Given the description of an element on the screen output the (x, y) to click on. 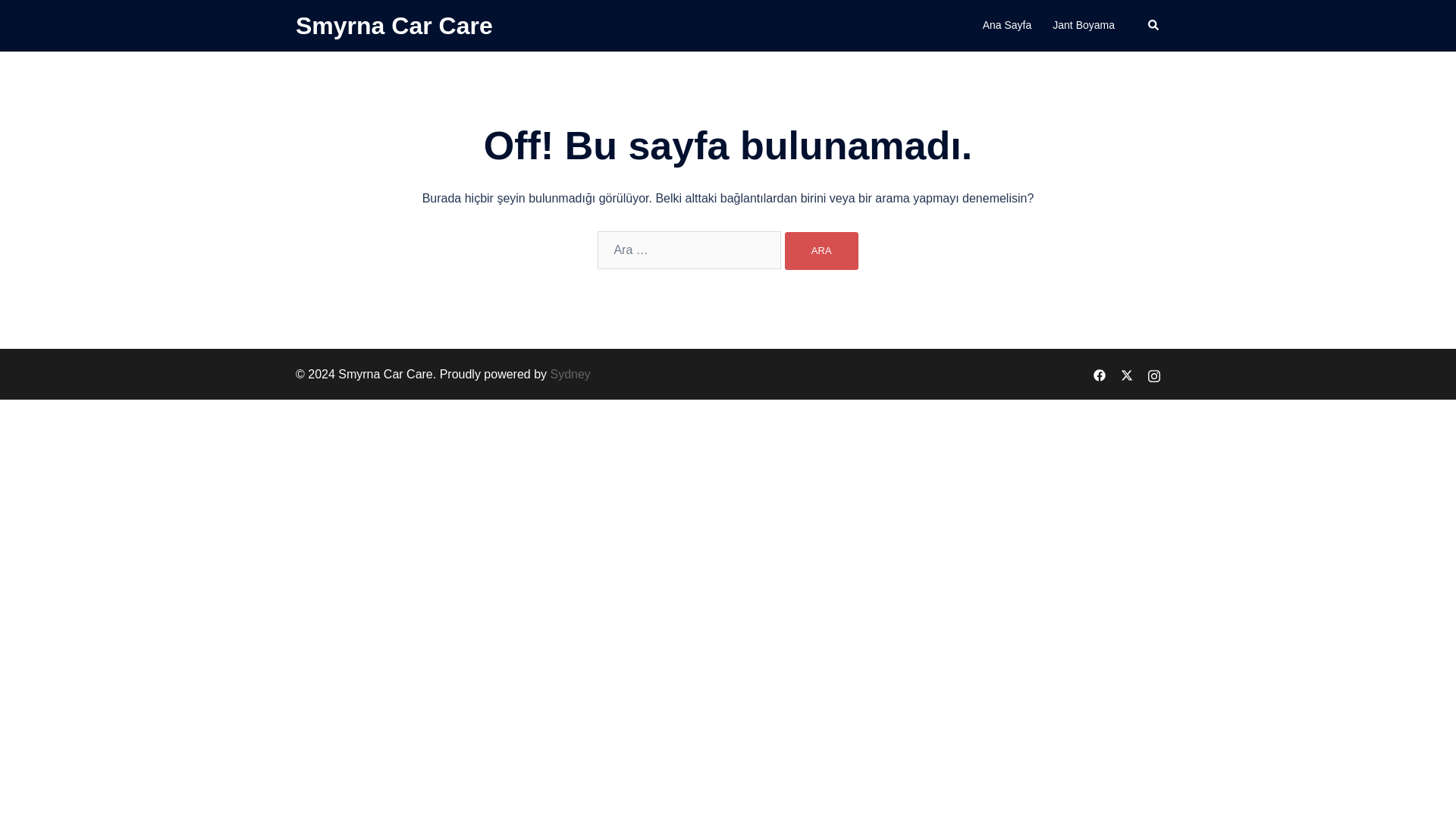
Ara (821, 250)
Ana Sayfa (1007, 25)
Ara (821, 250)
Sydney (570, 373)
Ara (821, 250)
Smyrna Car Care (394, 25)
Jant Boyama (1083, 25)
Search (1154, 25)
